Given the description of an element on the screen output the (x, y) to click on. 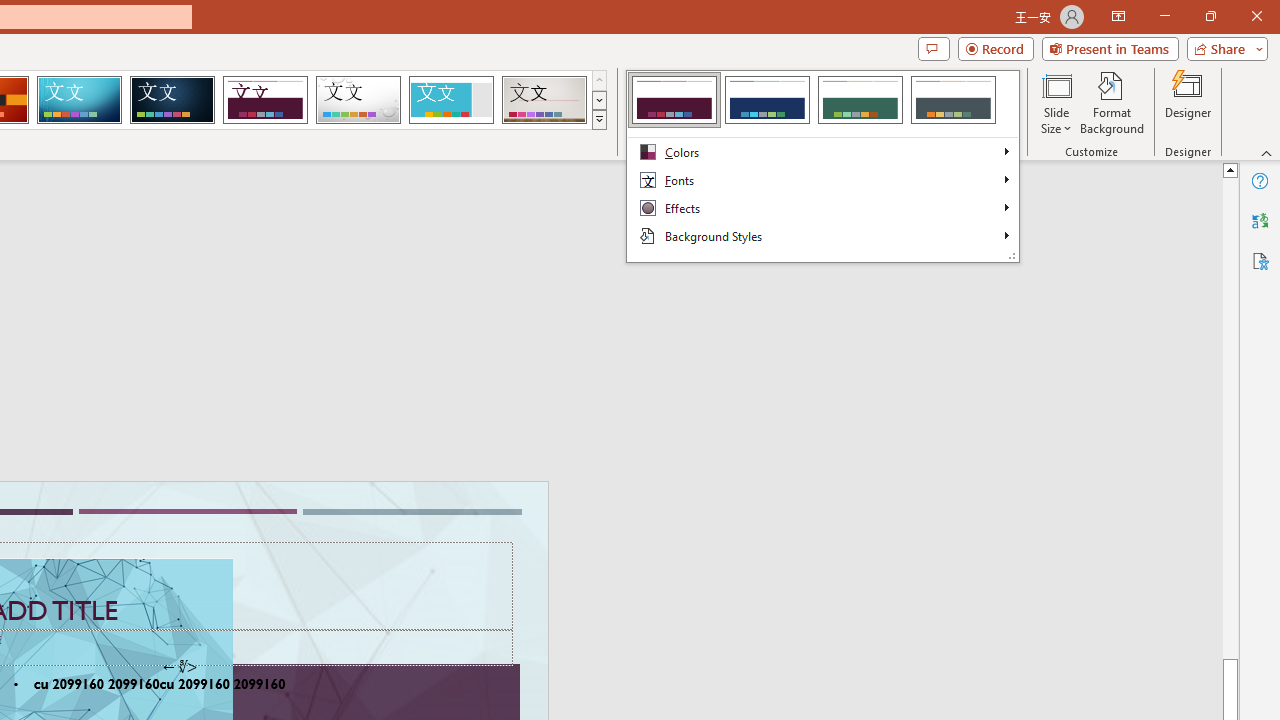
TextBox 7 (179, 667)
